Given the description of an element on the screen output the (x, y) to click on. 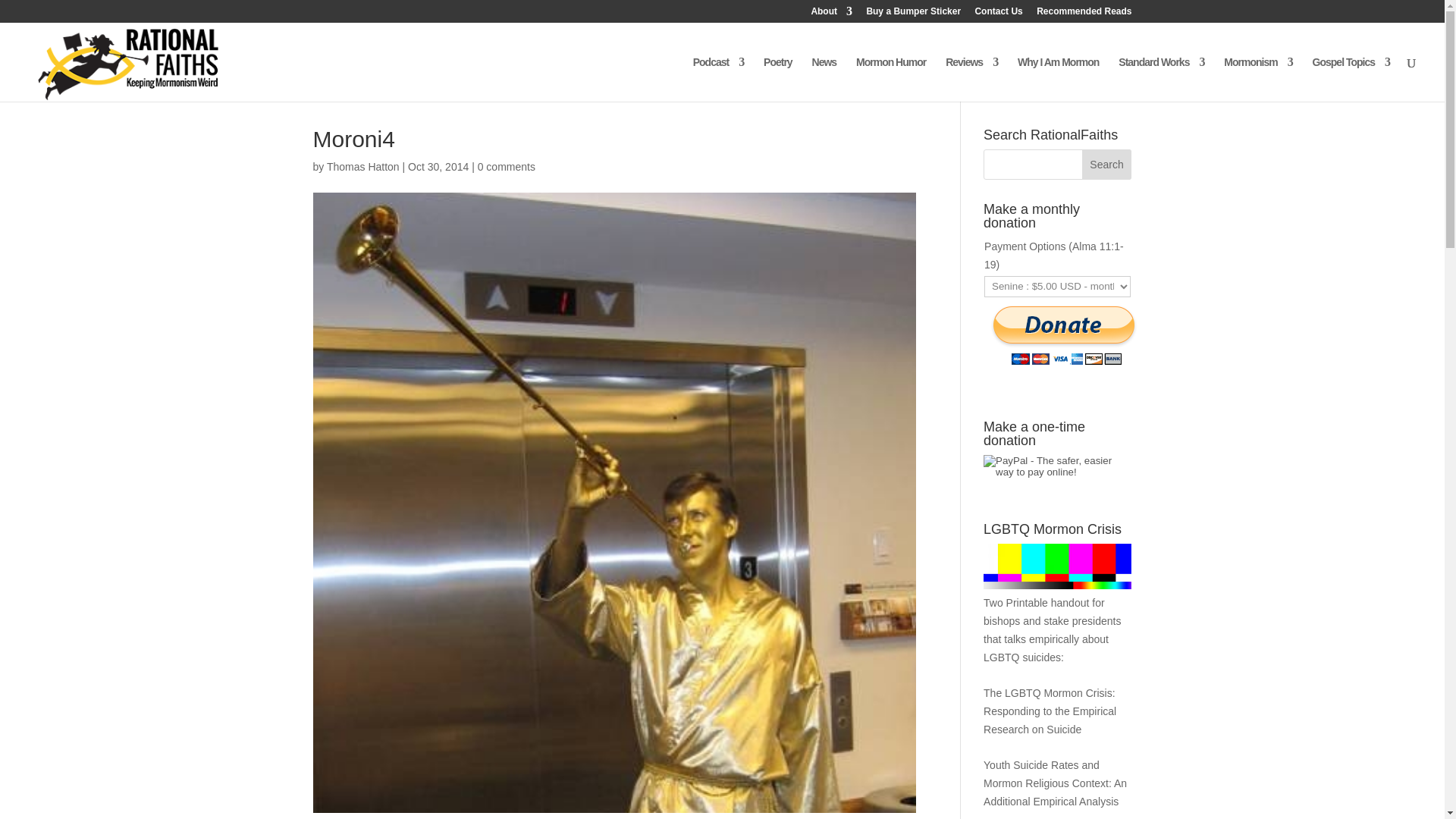
Buy a Bumper Sticker (913, 14)
Mormon Humor (891, 78)
Search (1106, 164)
About (830, 14)
Reviews (970, 78)
Poetry (777, 78)
Posts by Thomas Hatton (362, 166)
Contact Us (998, 14)
Standard Works (1161, 78)
Why I Am Mormon (1058, 78)
Recommended Reads (1083, 14)
Podcast (718, 78)
Mormonism (1258, 78)
News (824, 78)
